Given the description of an element on the screen output the (x, y) to click on. 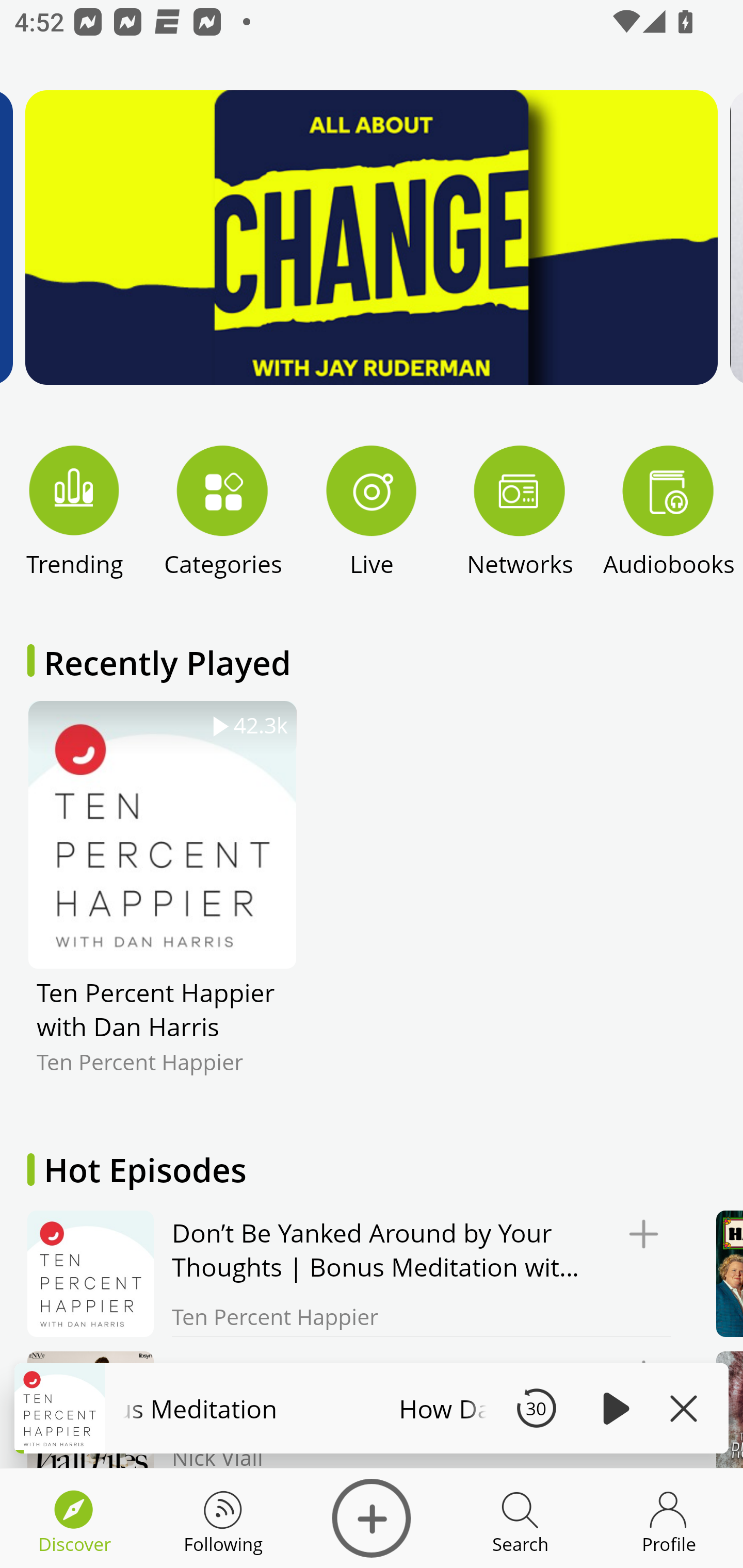
Play (613, 1407)
30 Seek Backward (536, 1407)
Discover Following (222, 1518)
Discover (371, 1518)
Discover Search (519, 1518)
Discover Profile (668, 1518)
